Given the description of an element on the screen output the (x, y) to click on. 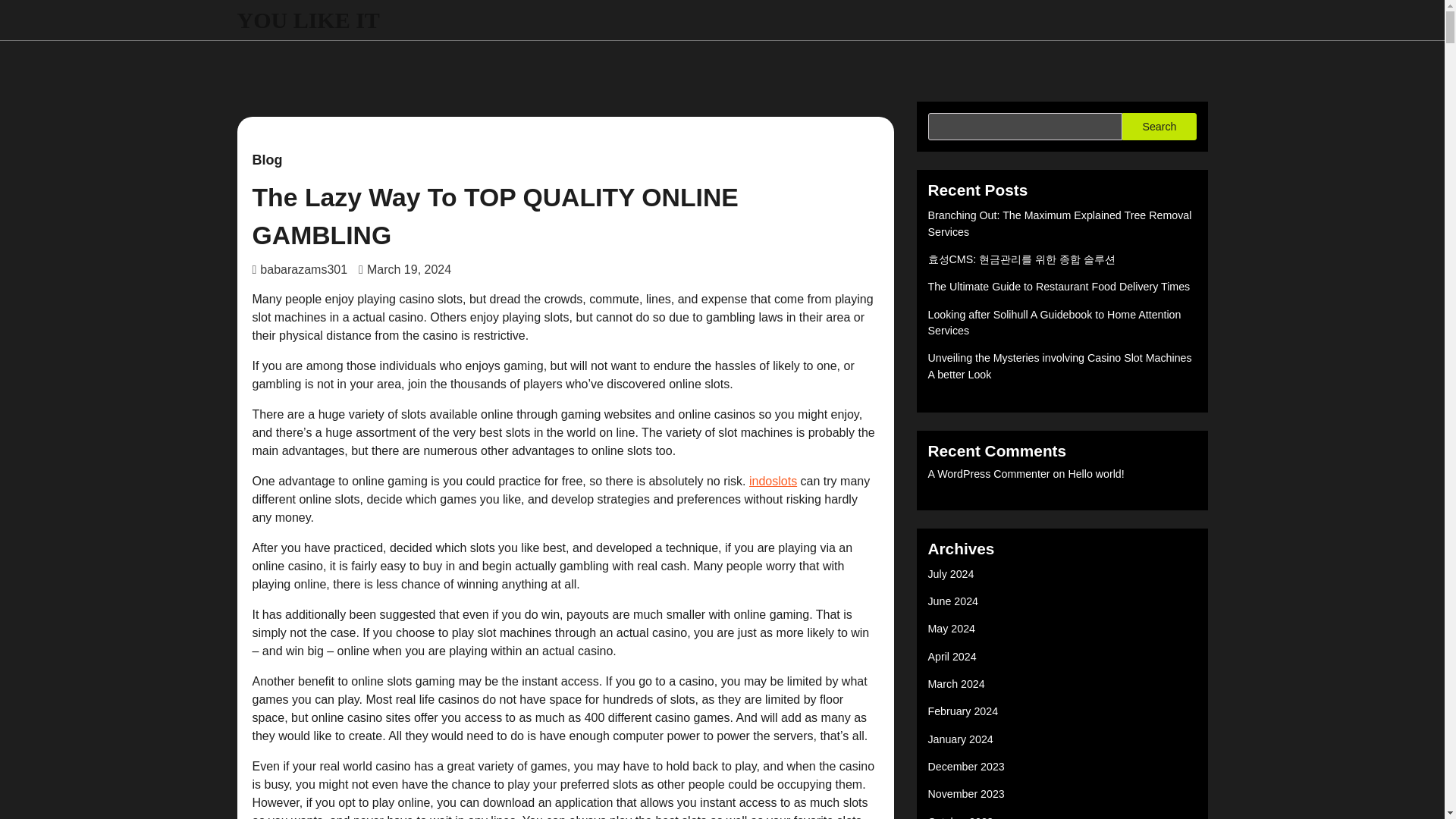
Search (1158, 126)
Branching Out: The Maximum Explained Tree Removal Services (1060, 223)
babarazams301 (299, 269)
January 2024 (960, 739)
December 2023 (966, 766)
May 2024 (951, 628)
The Ultimate Guide to Restaurant Food Delivery Times (1059, 286)
October 2023 (960, 817)
June 2024 (953, 601)
indoslots (772, 481)
March 2024 (956, 684)
March 19, 2024 (404, 269)
Blog (266, 160)
